Given the description of an element on the screen output the (x, y) to click on. 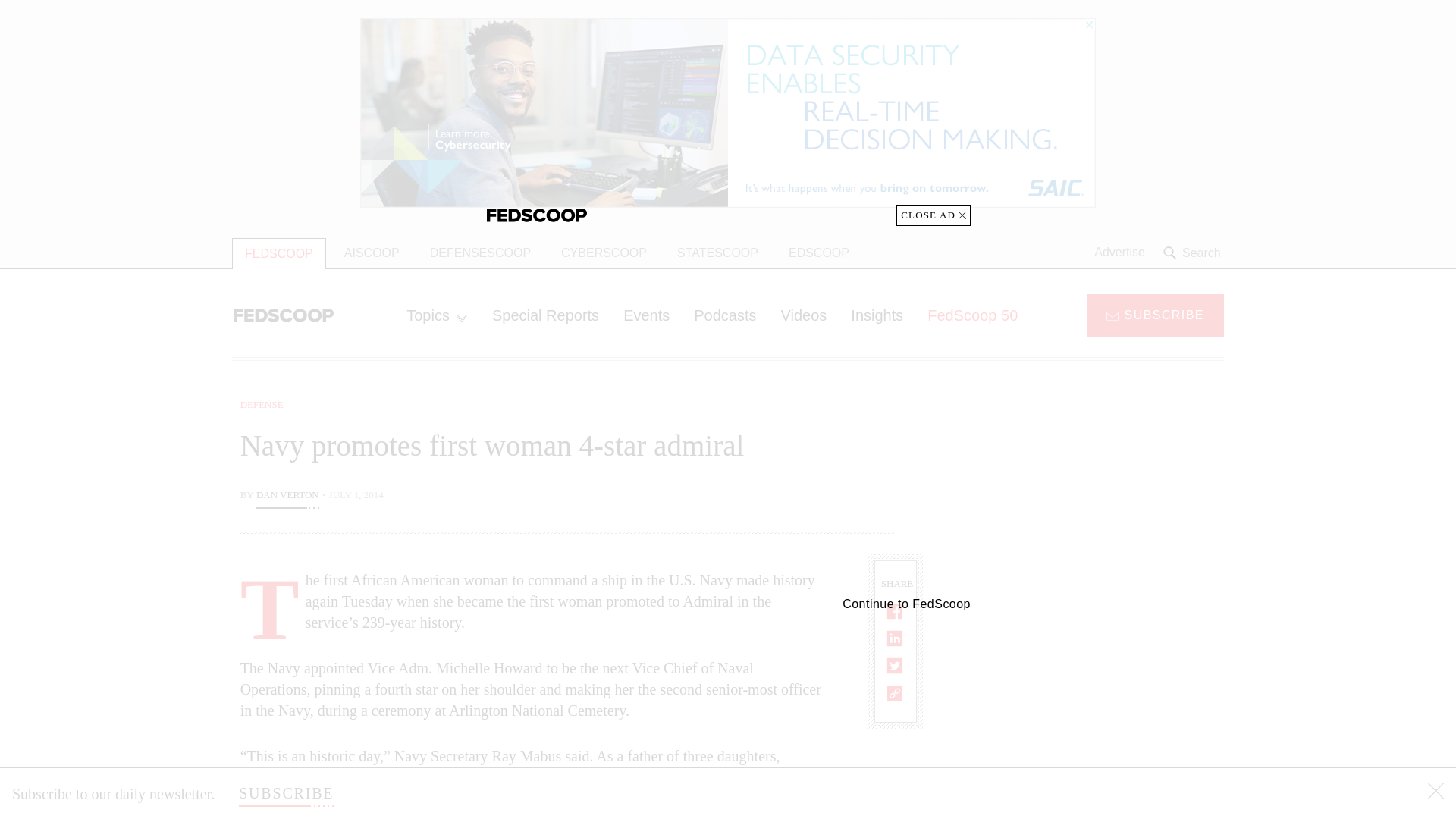
3rd party ad content (1101, 492)
EDSCOOP (818, 253)
Special Reports (545, 315)
Insights (876, 315)
FEDSCOOP (278, 253)
AISCOOP (371, 253)
Videos (804, 315)
Topics (437, 315)
SUBSCRIBE (285, 793)
